Given the description of an element on the screen output the (x, y) to click on. 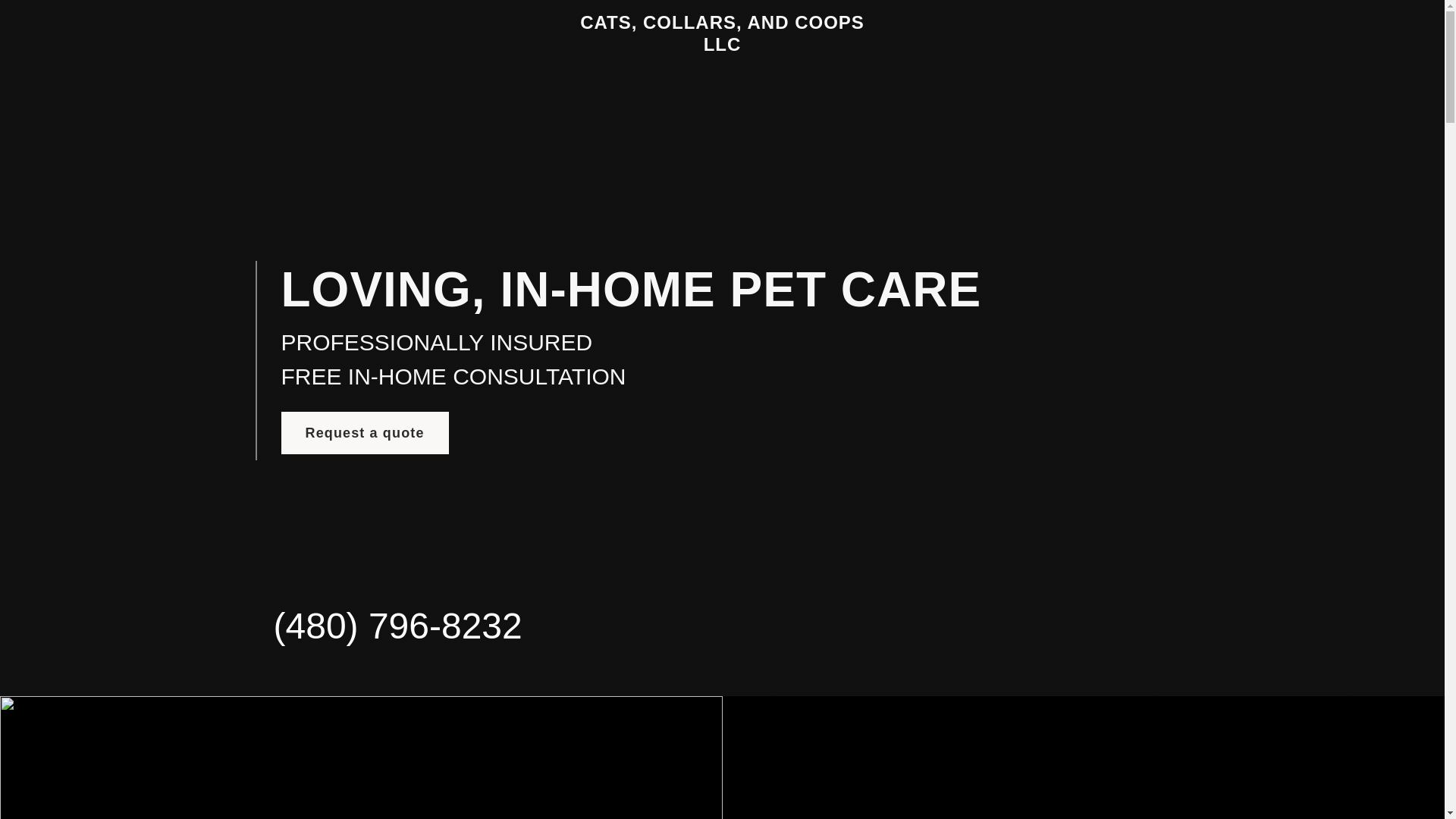
CATS, COLLARS, AND COOPS LLC (721, 46)
Cats, Collars, and Coops LLC (721, 46)
Request a quote (364, 432)
